Given the description of an element on the screen output the (x, y) to click on. 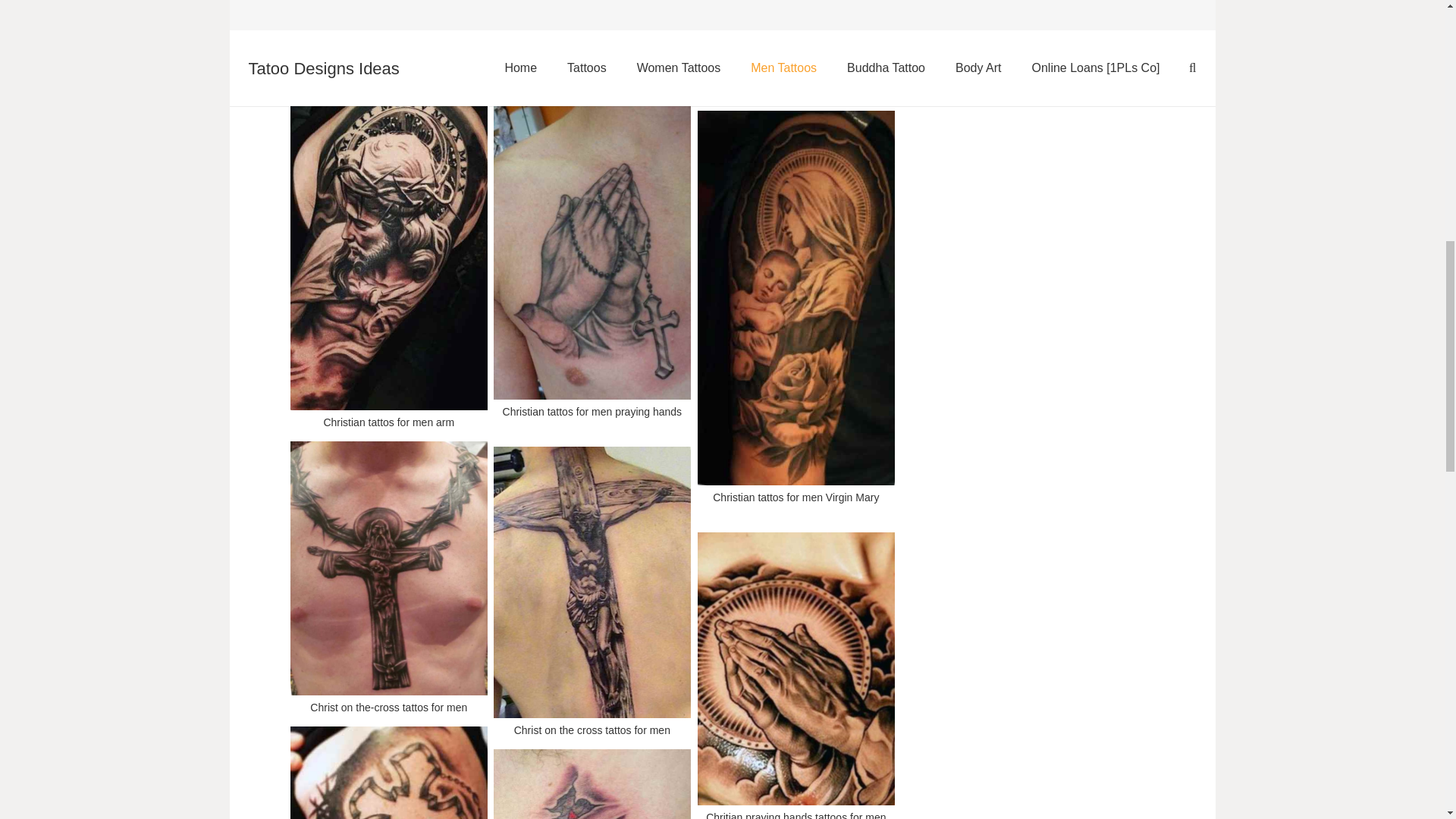
Christian devil tattoo for men (388, 50)
Christian tattoos for men angel (591, 50)
Cross tattoos (591, 782)
Cross tattoo (388, 771)
Christian tattoos for men angel (591, 50)
Christian devil tattoo for men (388, 50)
Cross tattoos (591, 782)
Christian tattoos for men Virgin Guadalupe (796, 53)
Christian tattoos for men Virgin Guadalupe (796, 53)
Cross tattoo (388, 771)
